Given the description of an element on the screen output the (x, y) to click on. 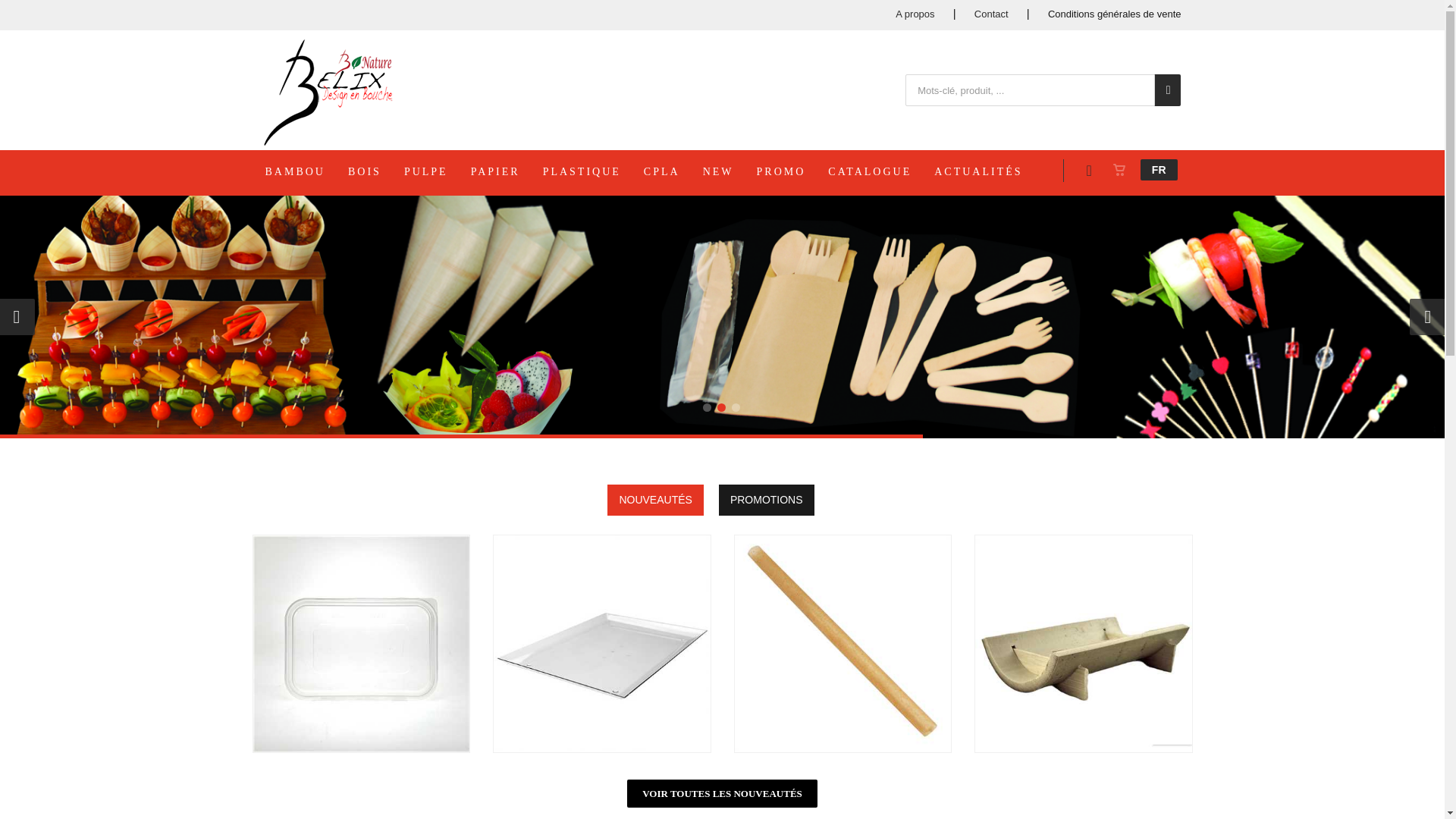
CATALOGUE Element type: text (879, 171)
PAPIER Element type: text (505, 171)
PROMO Element type: text (791, 171)
PULPE Element type: text (435, 171)
PLASTIQUE Element type: text (591, 171)
FR Element type: text (1158, 169)
PROMOTIONS Element type: text (766, 499)
NEW Element type: text (728, 171)
BOIS Element type: text (374, 171)
CPLA Element type: text (671, 171)
BAMBOU Element type: text (304, 171)
